Given the description of an element on the screen output the (x, y) to click on. 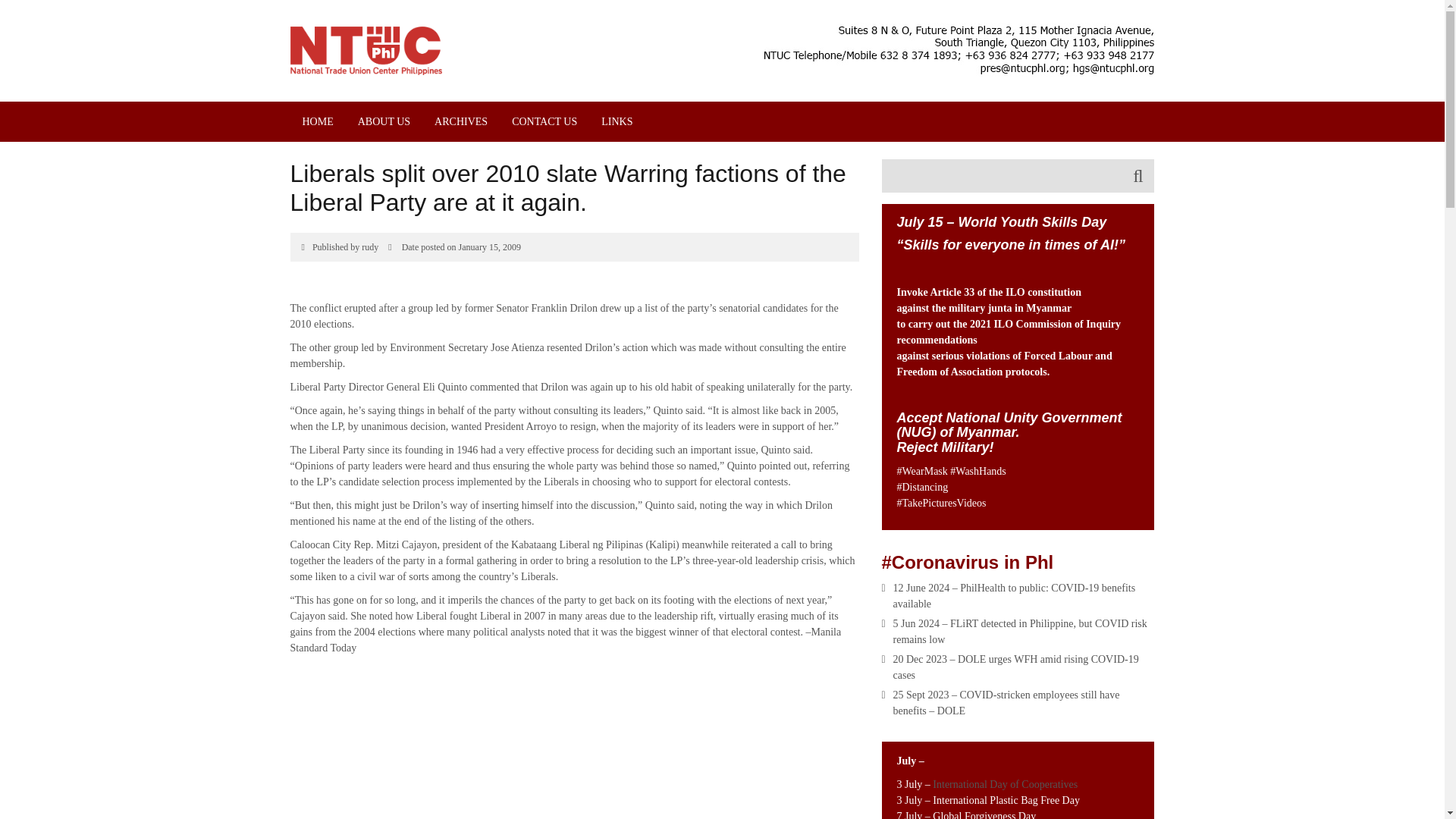
HOME (317, 121)
LINKS (617, 121)
ABOUT US (384, 121)
ARCHIVES (460, 121)
CONTACT US (544, 121)
International Day of Cooperatives  (1006, 784)
